Given the description of an element on the screen output the (x, y) to click on. 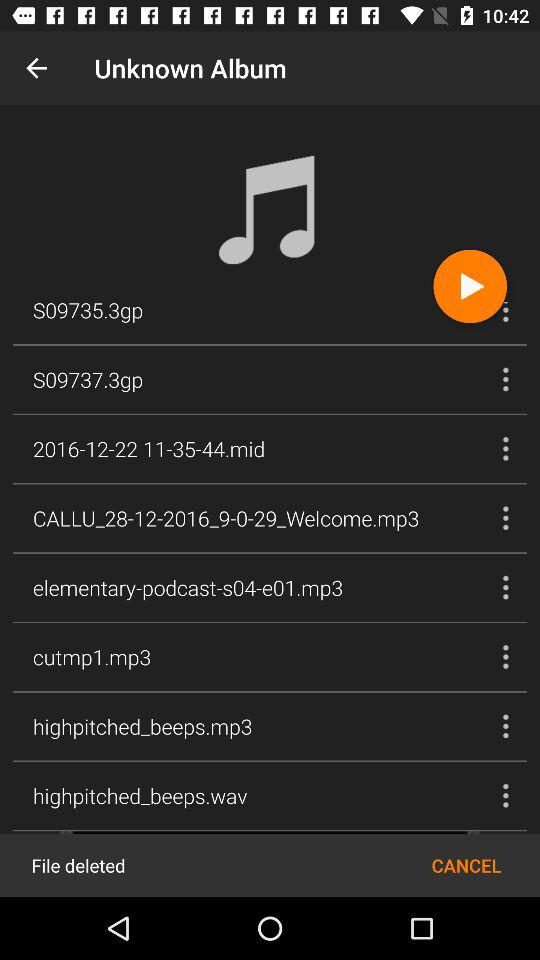
turn off elementary podcast s04 icon (188, 587)
